Given the description of an element on the screen output the (x, y) to click on. 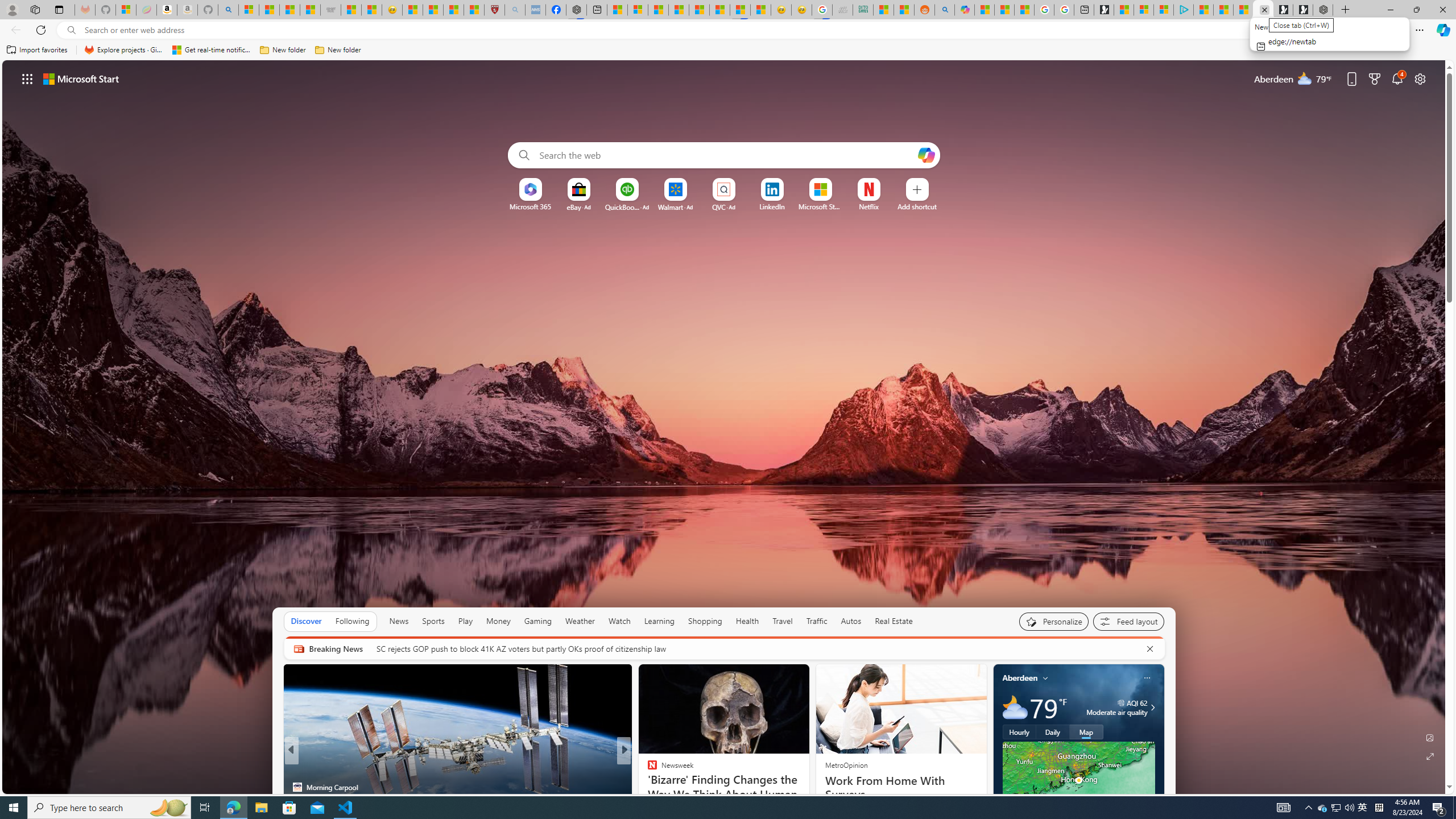
Class: icon-img (1146, 677)
Morning Carpool (296, 786)
Edit Background (1430, 737)
